Given the description of an element on the screen output the (x, y) to click on. 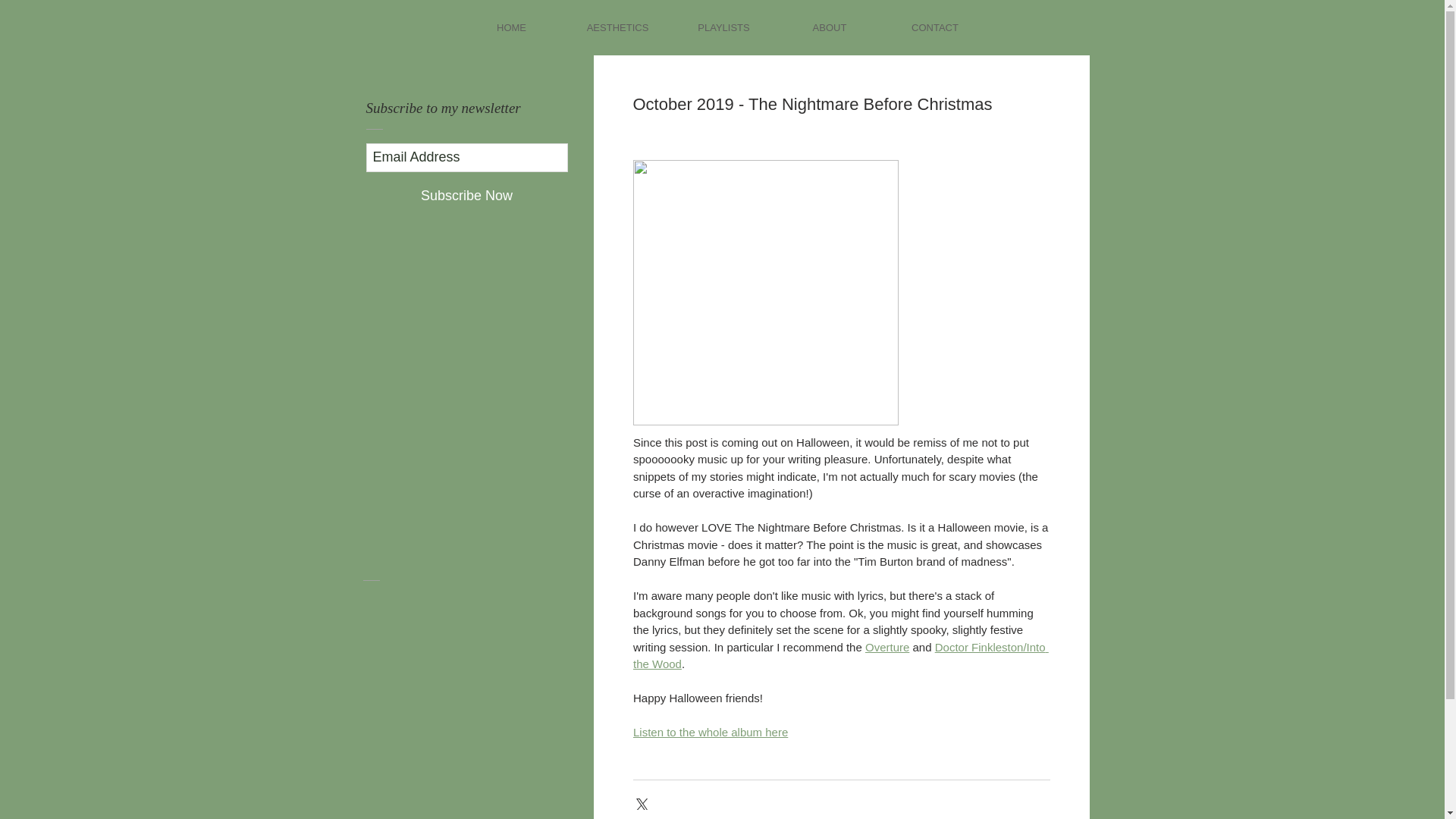
PLAYLISTS (722, 27)
Overture (886, 646)
Listen to the whole album here (709, 731)
Subscribe Now (466, 195)
ABOUT (829, 27)
CONTACT (935, 27)
AESTHETICS (616, 27)
HOME (511, 27)
